Given the description of an element on the screen output the (x, y) to click on. 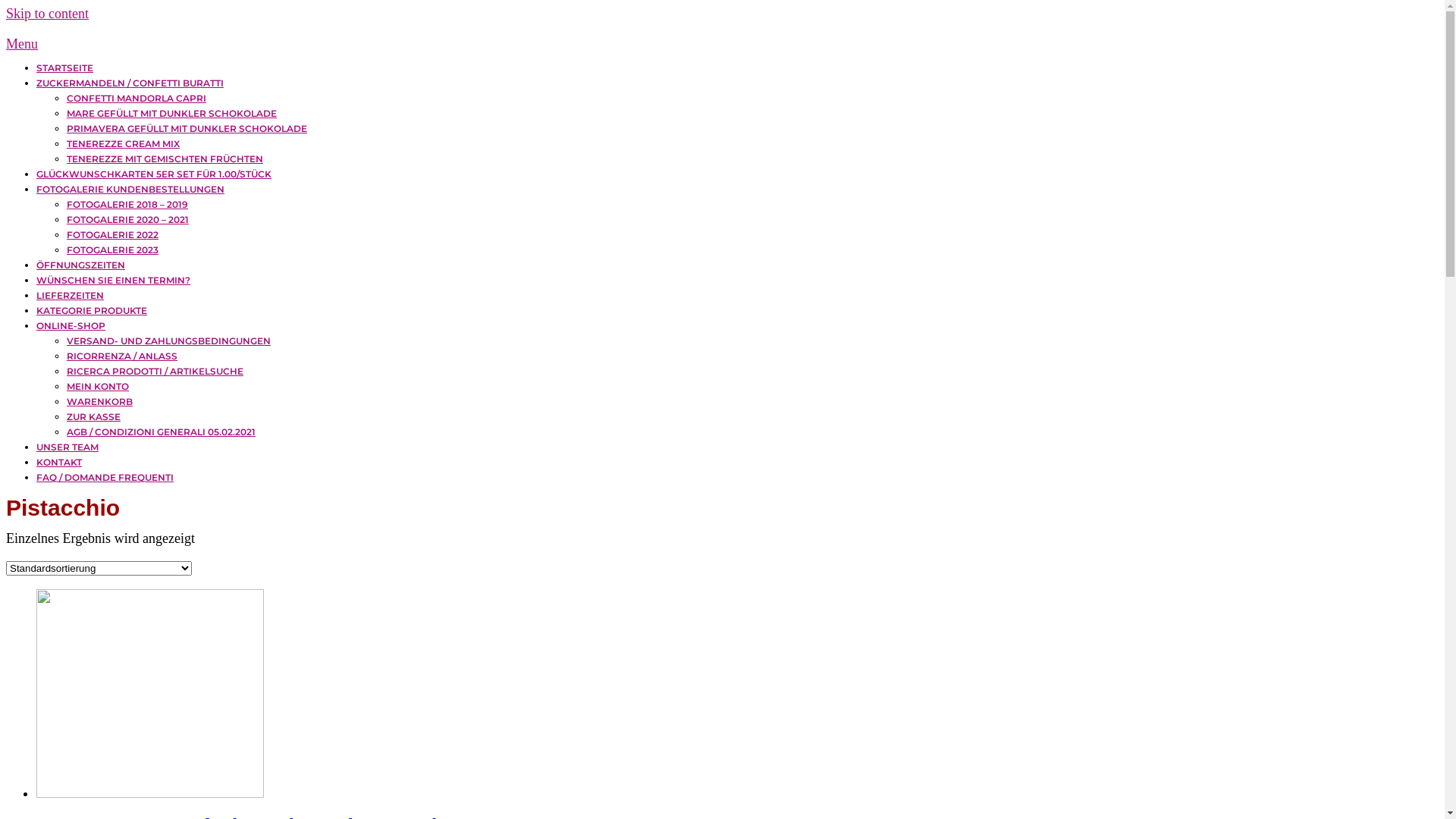
FOTOGALERIE 2023 Element type: text (112, 249)
RICORRENZA / ANLASS Element type: text (121, 355)
KONTAKT Element type: text (58, 461)
FOTOGALERIE 2022 Element type: text (112, 234)
ZUR KASSE Element type: text (93, 416)
Menu Element type: text (21, 43)
STARTSEITE Element type: text (64, 67)
MEIN KONTO Element type: text (97, 386)
KATEGORIE PRODUKTE Element type: text (91, 310)
Skip to content Element type: text (47, 13)
CONFETTI MANDORLA CAPRI Element type: text (136, 97)
FAQ / DOMANDE FREQUENTI Element type: text (104, 477)
ZUCKERMANDELN / CONFETTI BURATTI Element type: text (129, 82)
RICERCA PRODOTTI / ARTIKELSUCHE Element type: text (154, 370)
TENEREZZE CREAM MIX Element type: text (122, 143)
UNSER TEAM Element type: text (67, 446)
ONLINE-SHOP Element type: text (70, 325)
AGB / CONDIZIONI GENERALI 05.02.2021 Element type: text (160, 431)
FOTOGALERIE KUNDENBESTELLUNGEN Element type: text (130, 188)
LIEFERZEITEN Element type: text (69, 295)
VERSAND- UND ZAHLUNGSBEDINGUNGEN Element type: text (168, 340)
WARENKORB Element type: text (99, 401)
